Given the description of an element on the screen output the (x, y) to click on. 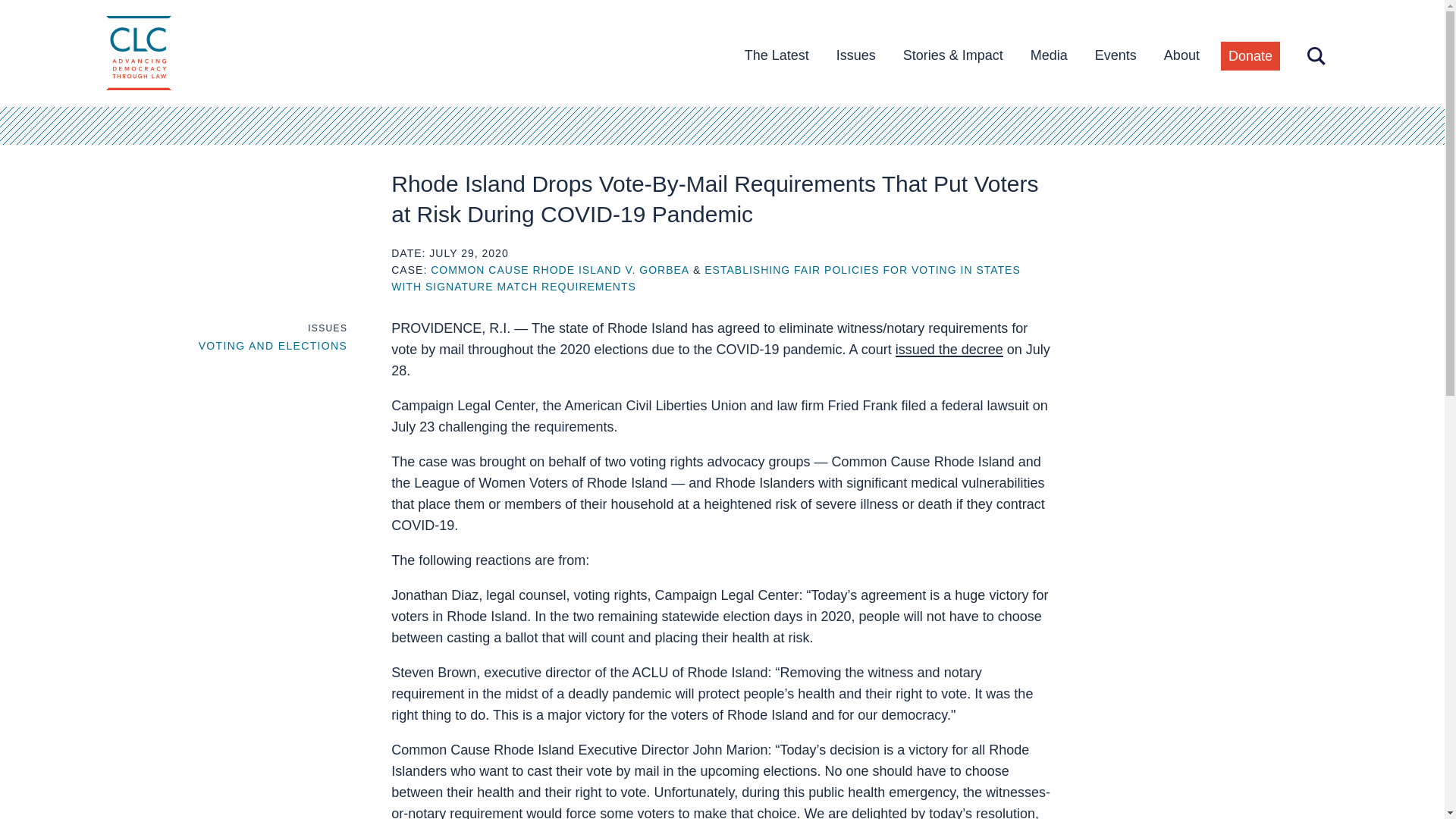
Issues (855, 55)
Media Center (1049, 55)
About (1181, 55)
Search (1316, 55)
Media (1049, 55)
Donate (1250, 55)
Donate (1250, 55)
Issues (855, 55)
COMMON CAUSE RHODE ISLAND V. GORBEA (559, 269)
Events (1115, 55)
issued the decree (949, 349)
The Latest (776, 55)
VOTING AND ELECTIONS (272, 345)
About (1181, 55)
